Given the description of an element on the screen output the (x, y) to click on. 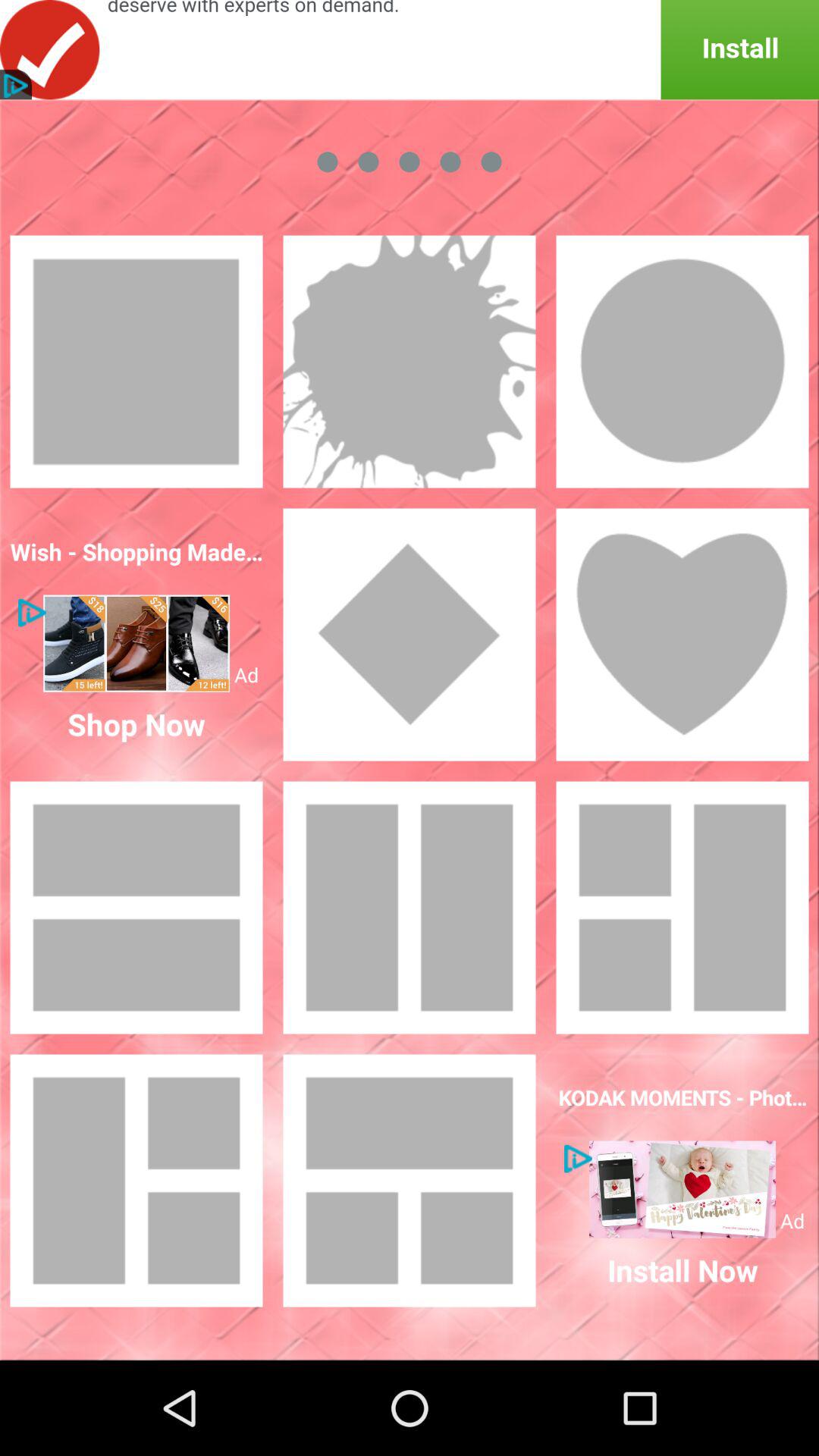
choose the selection (409, 361)
